Given the description of an element on the screen output the (x, y) to click on. 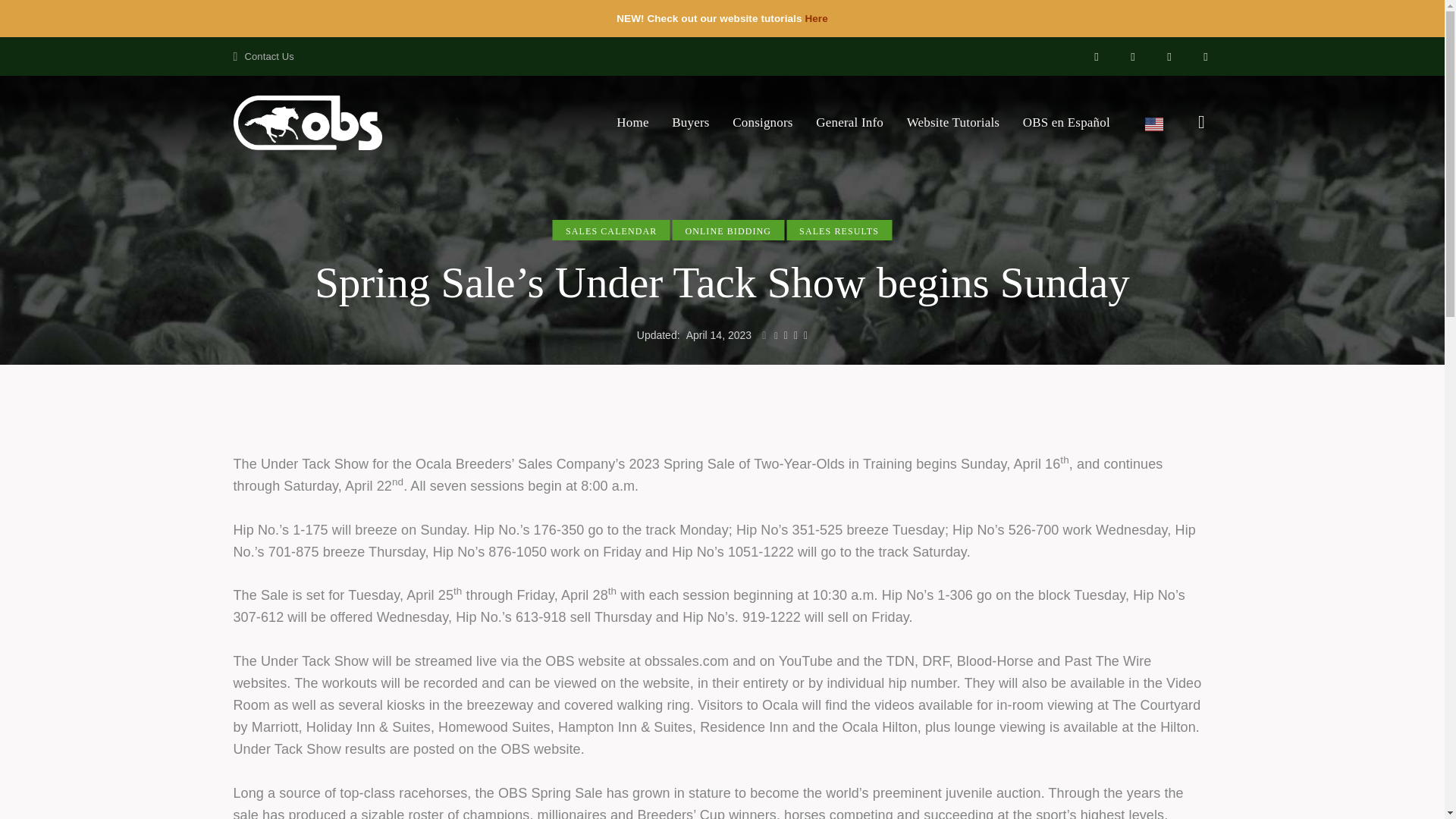
Here (816, 18)
Home (633, 122)
General Info (850, 122)
Website Tutorials (952, 122)
Consignors (762, 122)
Contact Us (263, 56)
Buyers (690, 122)
